Given the description of an element on the screen output the (x, y) to click on. 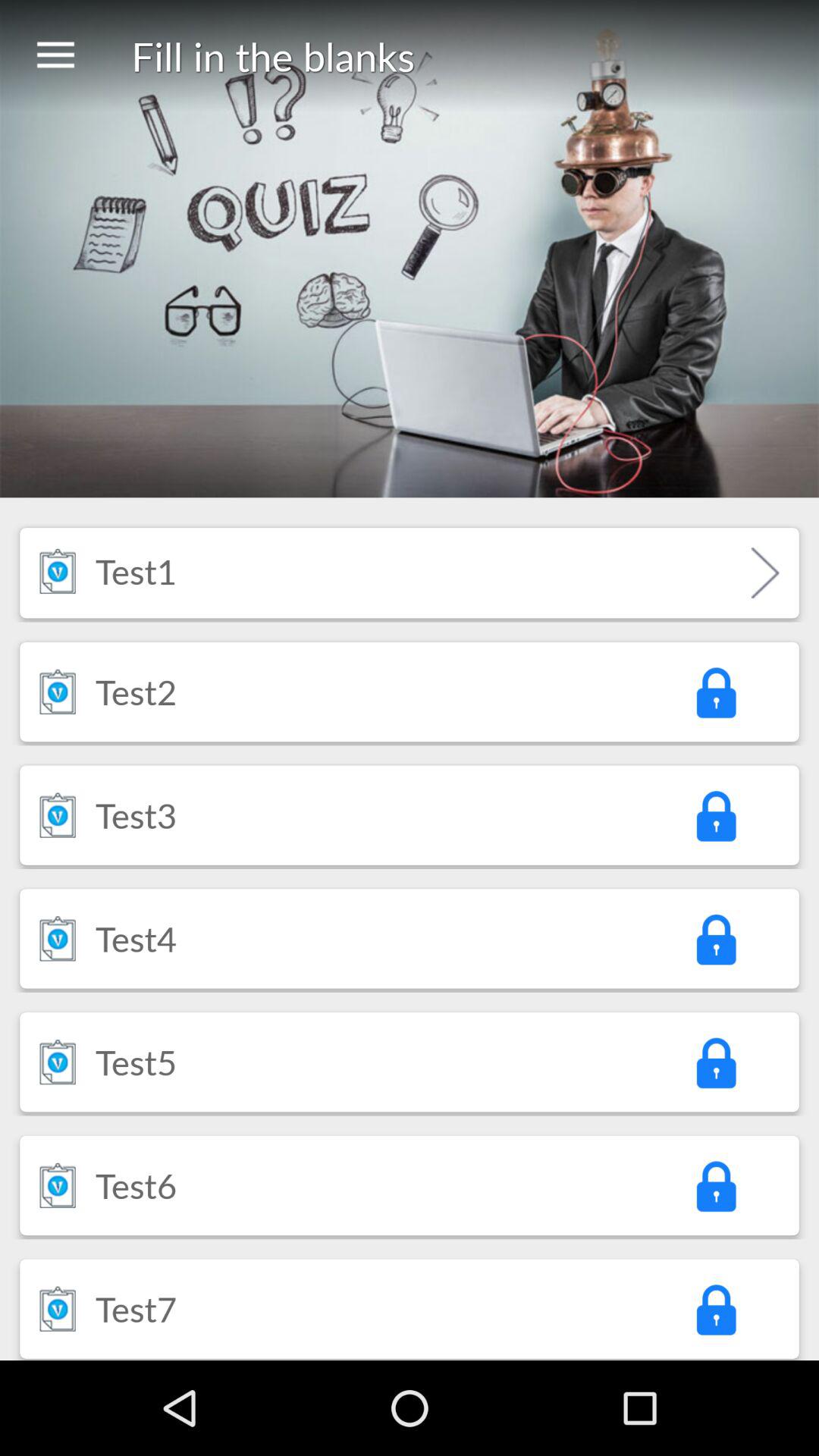
swipe until test1 (135, 570)
